Given the description of an element on the screen output the (x, y) to click on. 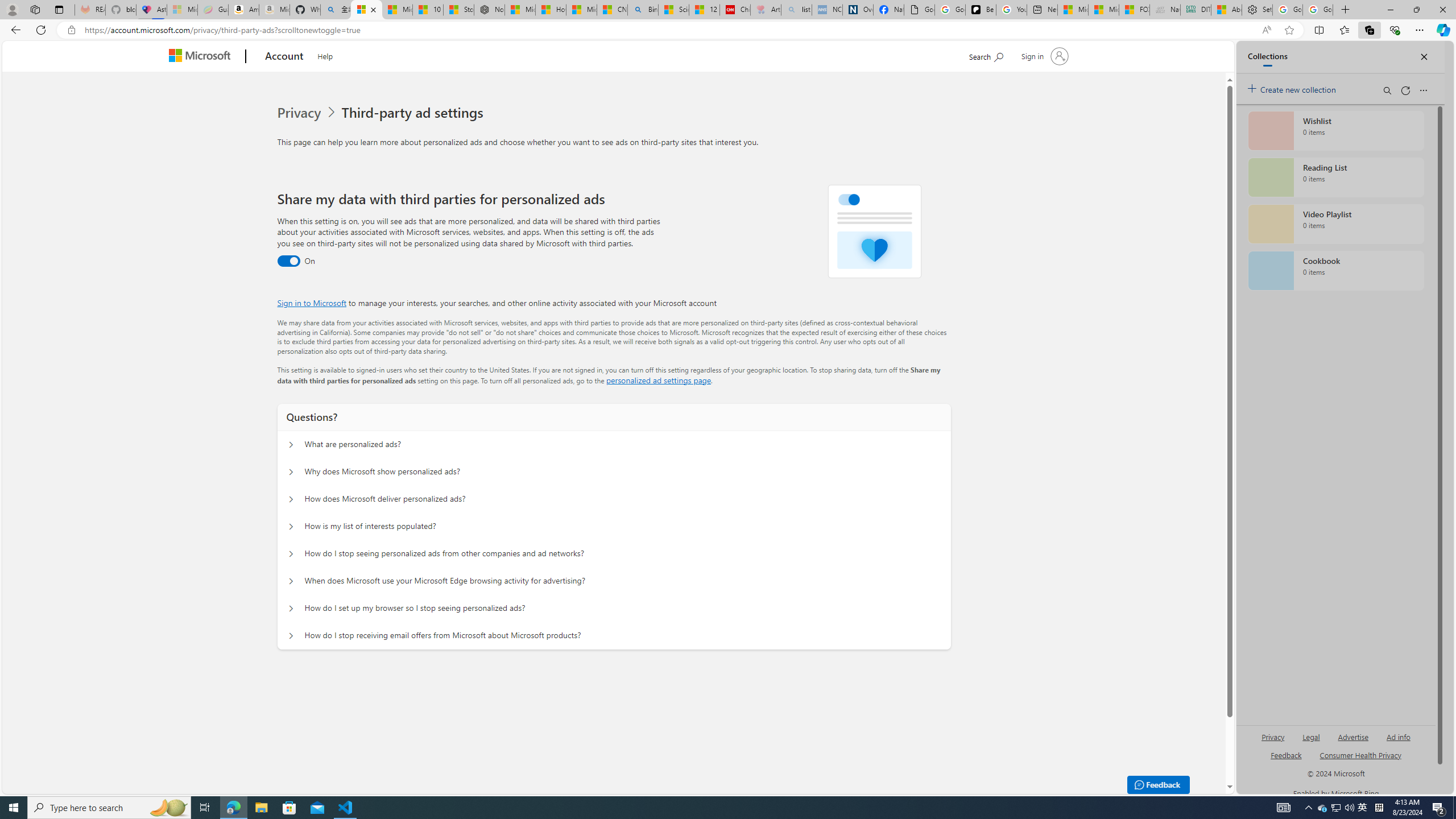
Microsoft Start (1103, 9)
How I Got Rid of Microsoft Edge's Unnecessary Features (549, 9)
Settings and more (Alt+F) (1419, 29)
Settings (1256, 9)
Search Microsoft.com (986, 54)
Bing (642, 9)
Address and search bar (669, 29)
Questions? How does Microsoft deliver personalized ads? (290, 499)
Help (324, 54)
NCL Adult Asthma Inhaler Choice Guideline - Sleeping (826, 9)
Browser essentials (1394, 29)
Personal Profile (12, 9)
